Given the description of an element on the screen output the (x, y) to click on. 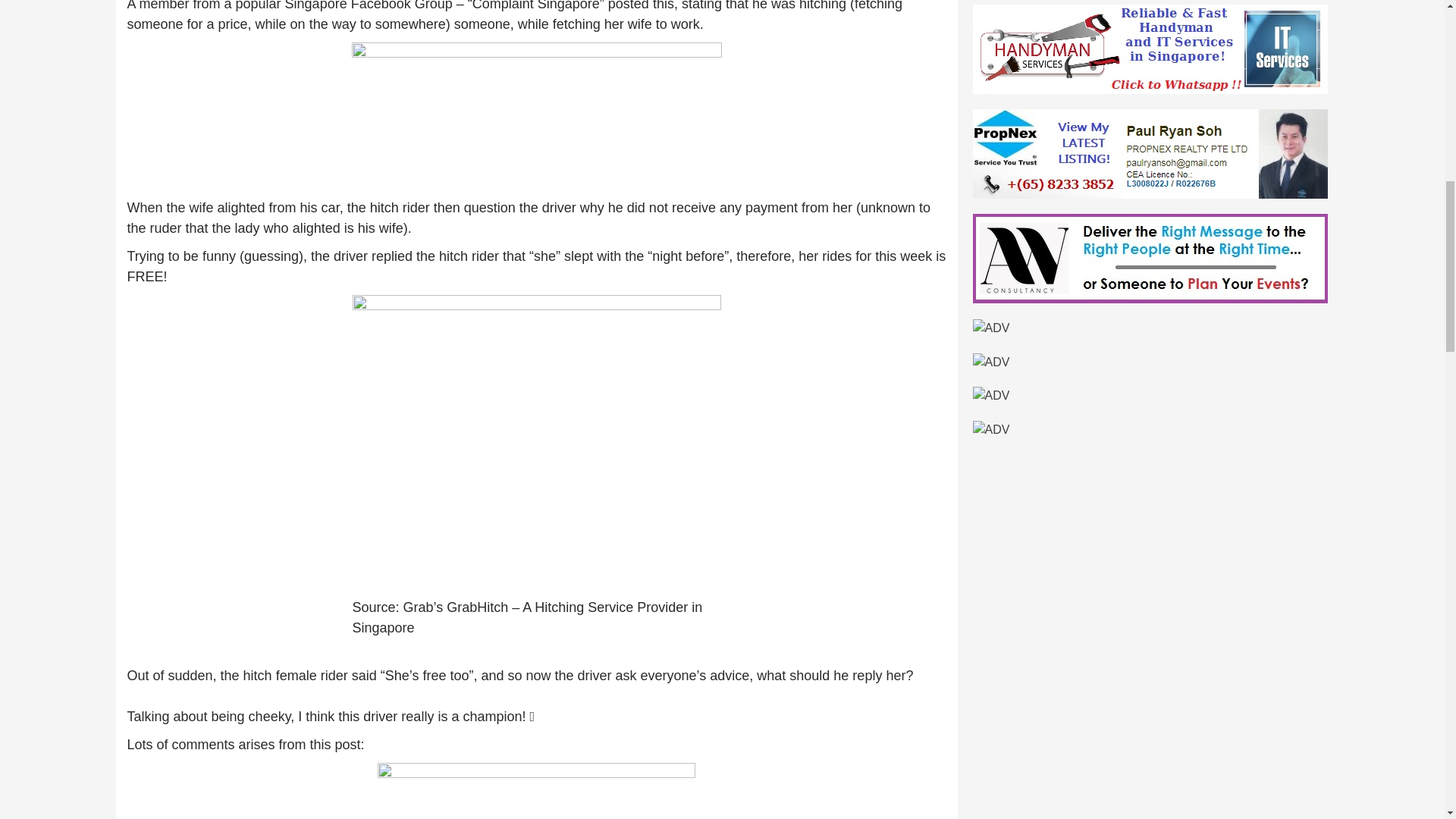
Branding and Events Planning! (1149, 256)
Paul Ryan Soh - PROPNEX REALTY PTE LTD (1149, 152)
AW - Give A Gift (990, 360)
